Given the description of an element on the screen output the (x, y) to click on. 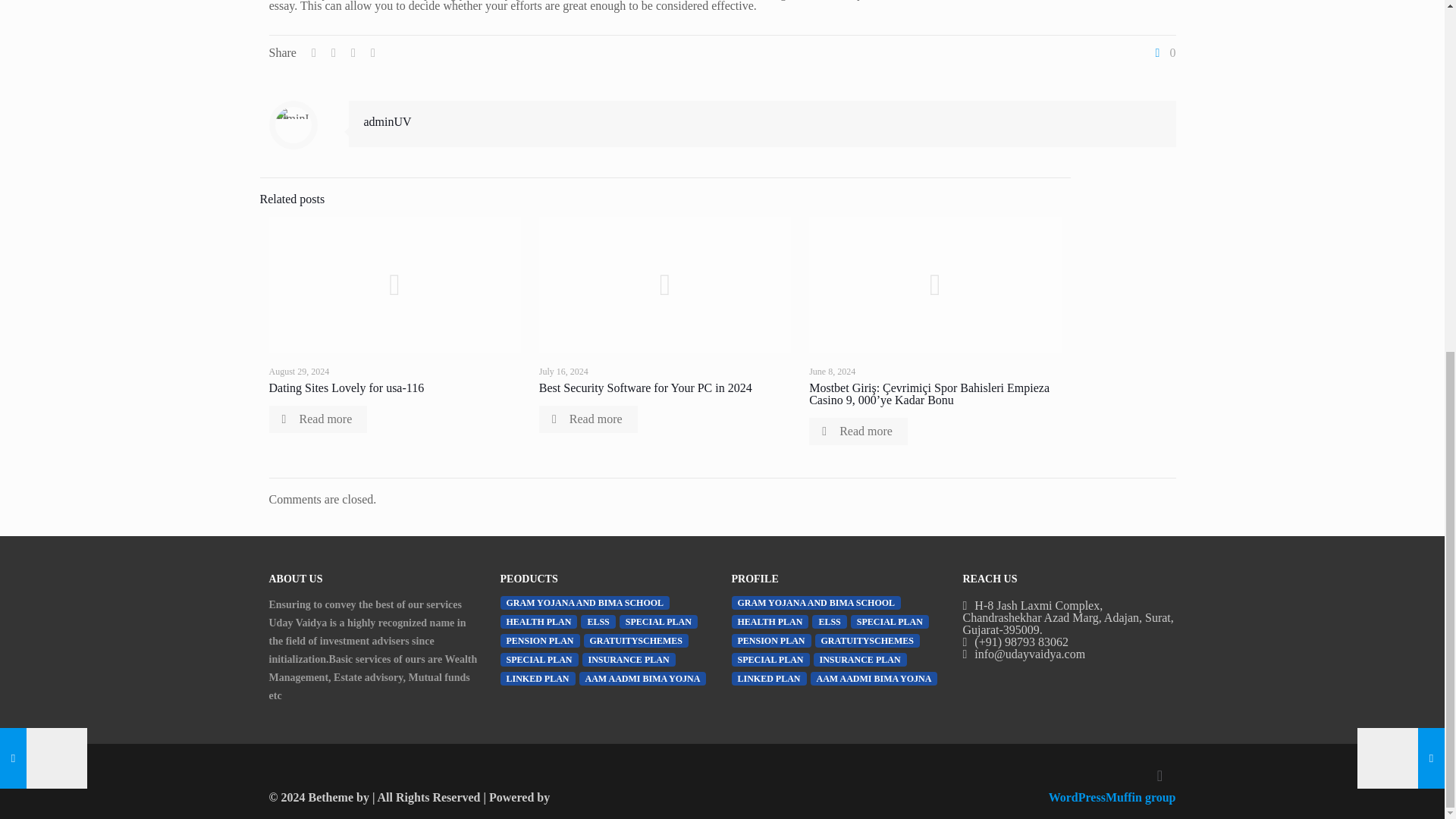
PENSION PLAN (539, 640)
adminUV (388, 121)
GRAM YOJANA AND BIMA SCHOOL (584, 602)
ELSS (597, 621)
Read more (858, 431)
Read more (587, 419)
HEALTH PLAN (539, 621)
0 (1162, 52)
Read more (316, 419)
INSURANCE PLAN (628, 659)
